Given the description of an element on the screen output the (x, y) to click on. 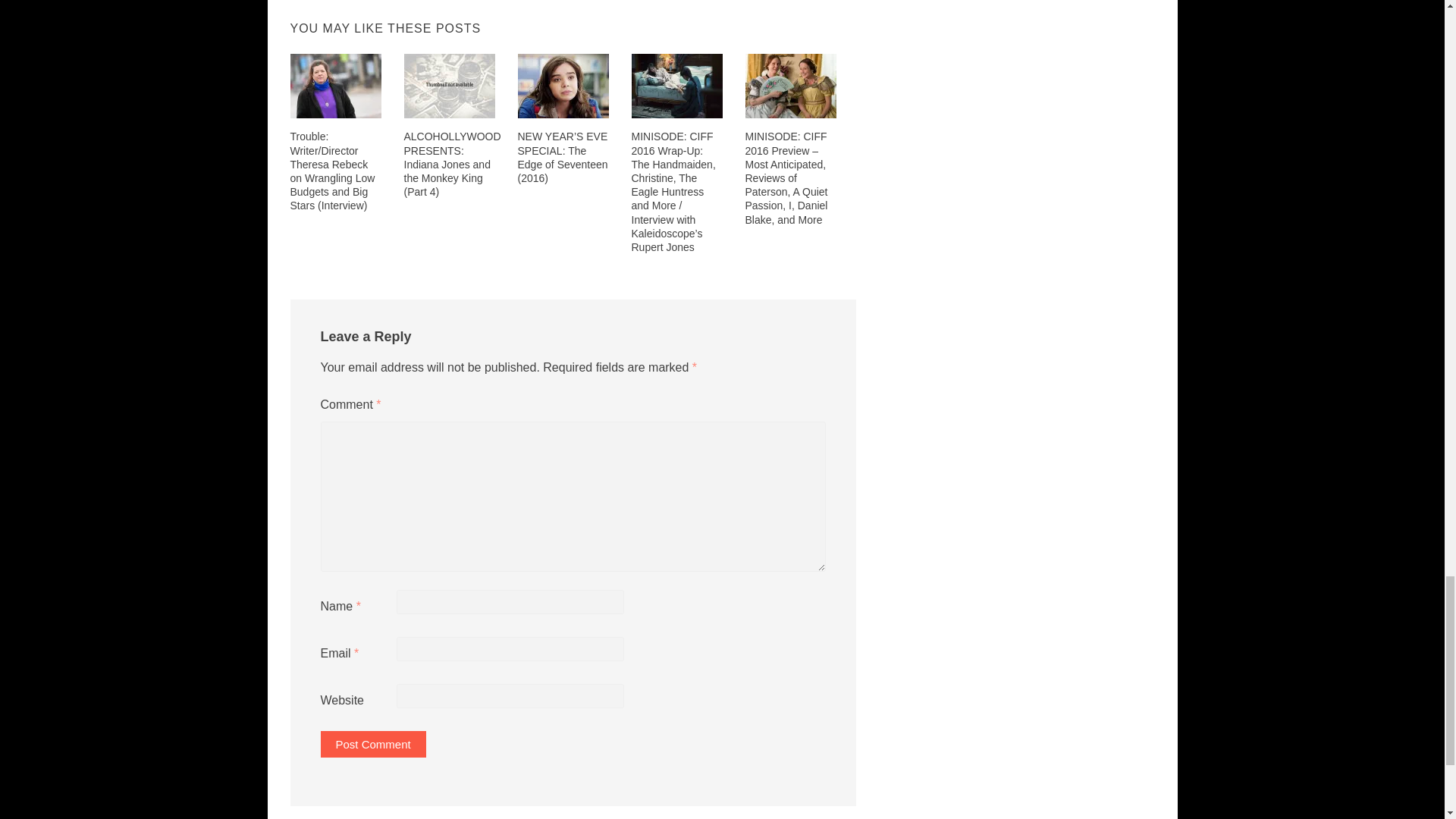
Post Comment (372, 744)
